Given the description of an element on the screen output the (x, y) to click on. 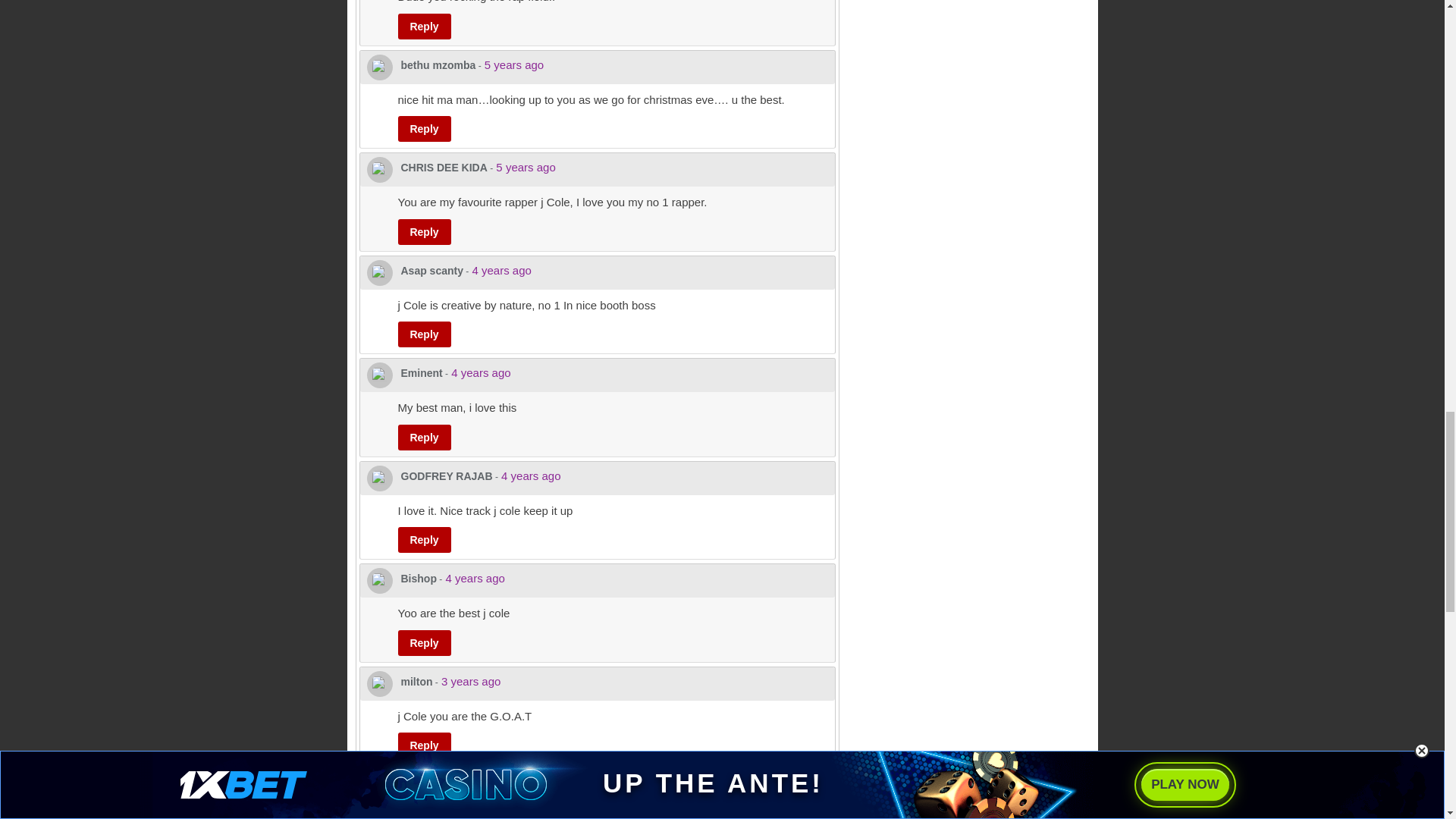
Reply (423, 26)
Reply (423, 539)
Reply (423, 128)
Reply (423, 334)
Reply (423, 437)
Reply (423, 231)
